Given the description of an element on the screen output the (x, y) to click on. 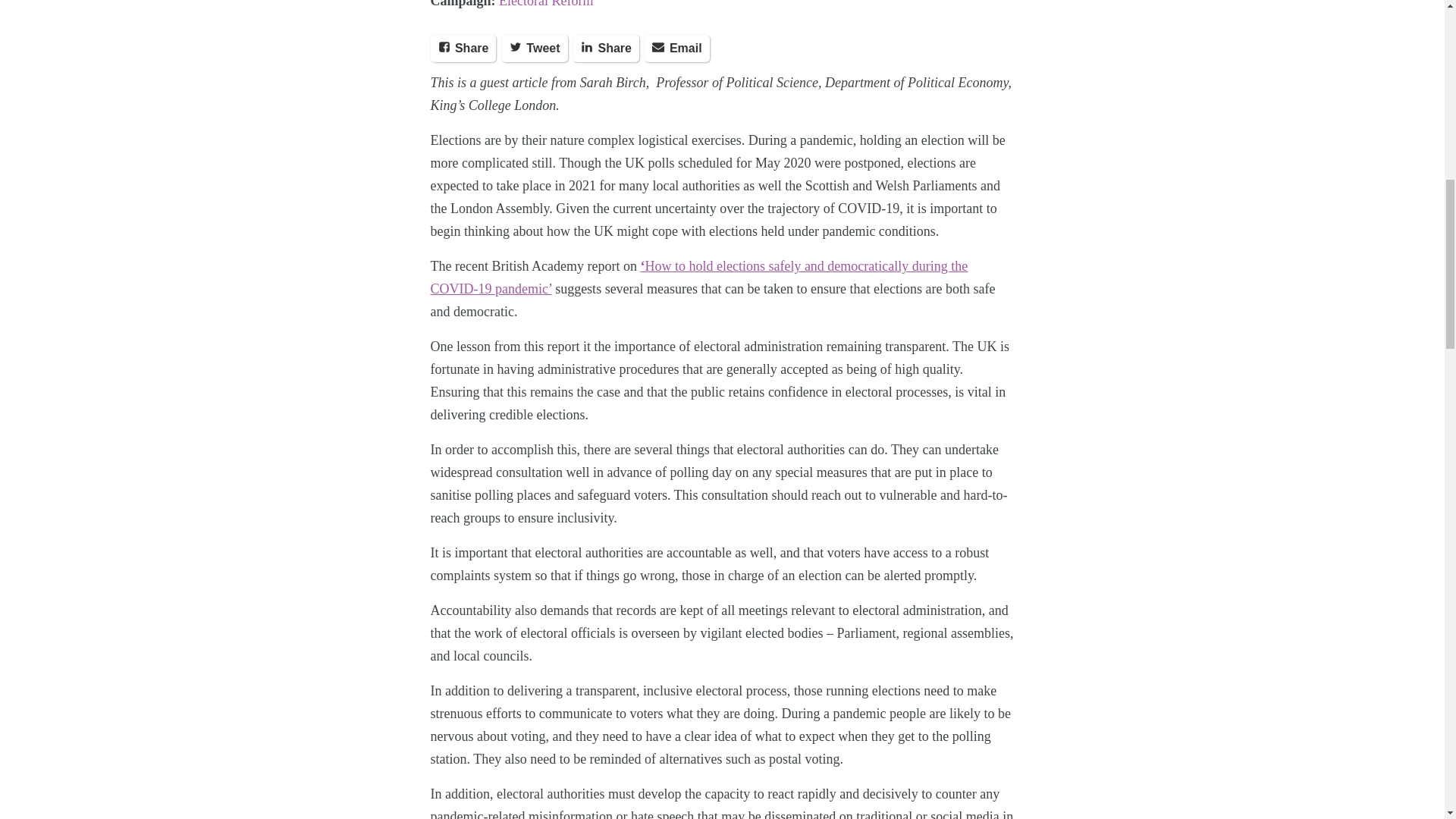
Share on Facebook (463, 48)
Share on LinkedIn (606, 48)
Share via Email (677, 48)
Tweet this page (534, 48)
